Given the description of an element on the screen output the (x, y) to click on. 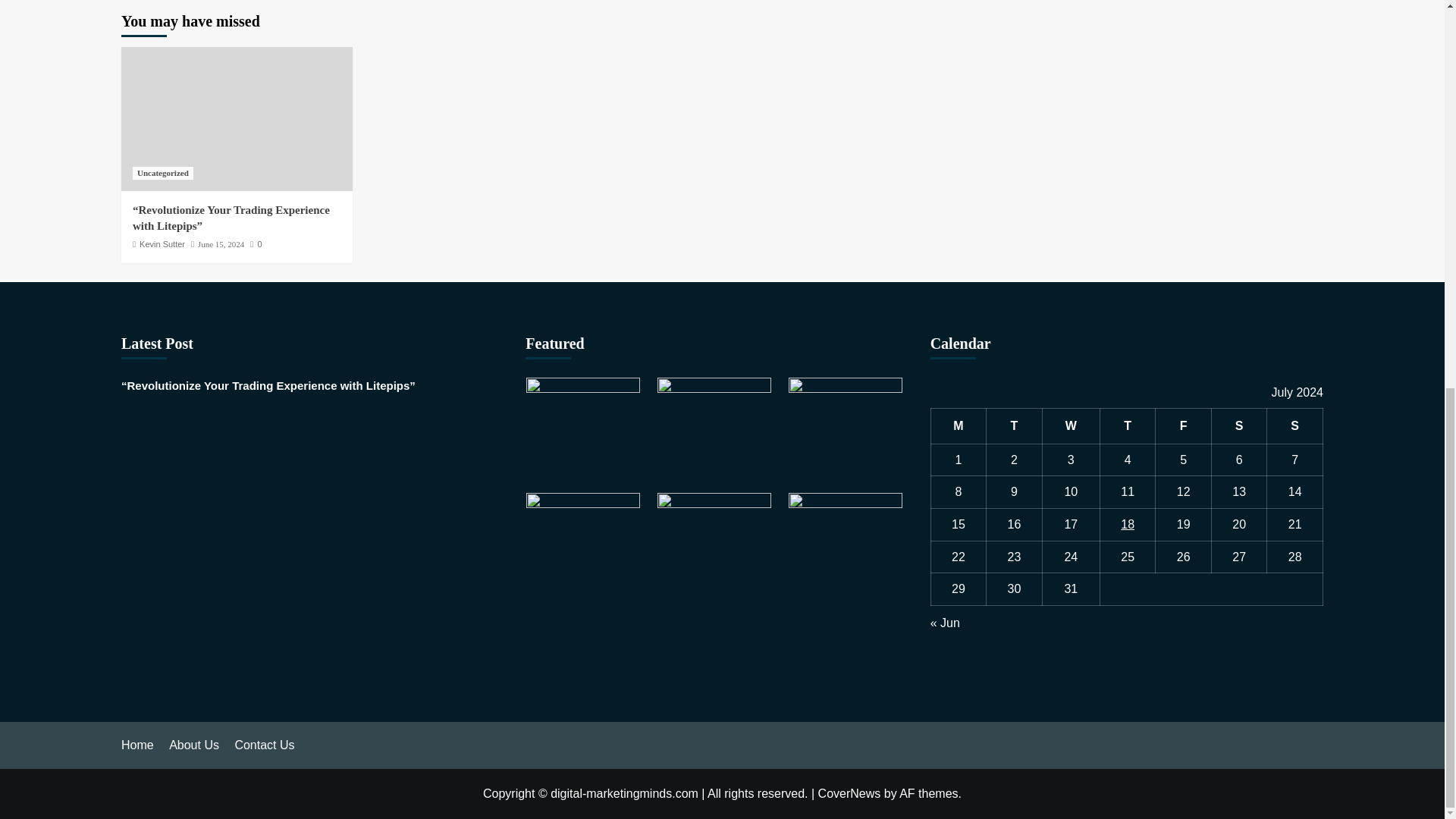
Tuesday (1014, 426)
Wednesday (1070, 426)
0 (256, 243)
Monday (958, 426)
Uncategorized (162, 173)
Kevin Sutter (161, 243)
Thursday (1127, 426)
June 15, 2024 (221, 243)
Friday (1183, 426)
Saturday (1238, 426)
Sunday (1294, 426)
